Given the description of an element on the screen output the (x, y) to click on. 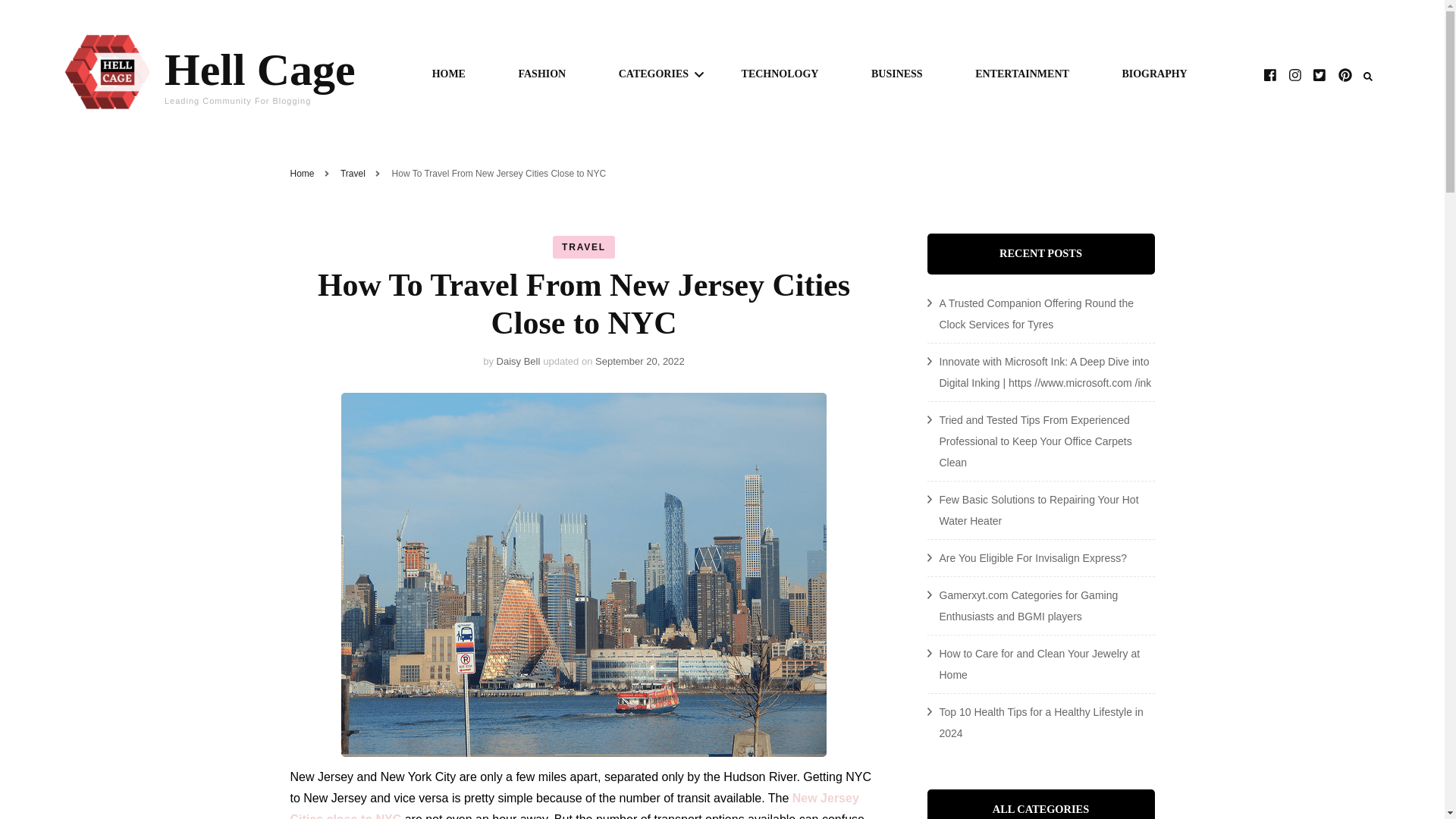
Home (301, 173)
CATEGORIES (653, 75)
ENTERTAINMENT (1021, 75)
FASHION (542, 75)
New Jersey Cities close to NYC (574, 805)
Travel (354, 173)
Daisy Bell (518, 360)
TRAVEL (583, 246)
BUSINESS (896, 75)
September 20, 2022 (639, 360)
HOME (448, 75)
BIOGRAPHY (1153, 75)
How To Travel From New Jersey Cities Close to NYC (499, 173)
TECHNOLOGY (779, 75)
Hell Cage (259, 69)
